Given the description of an element on the screen output the (x, y) to click on. 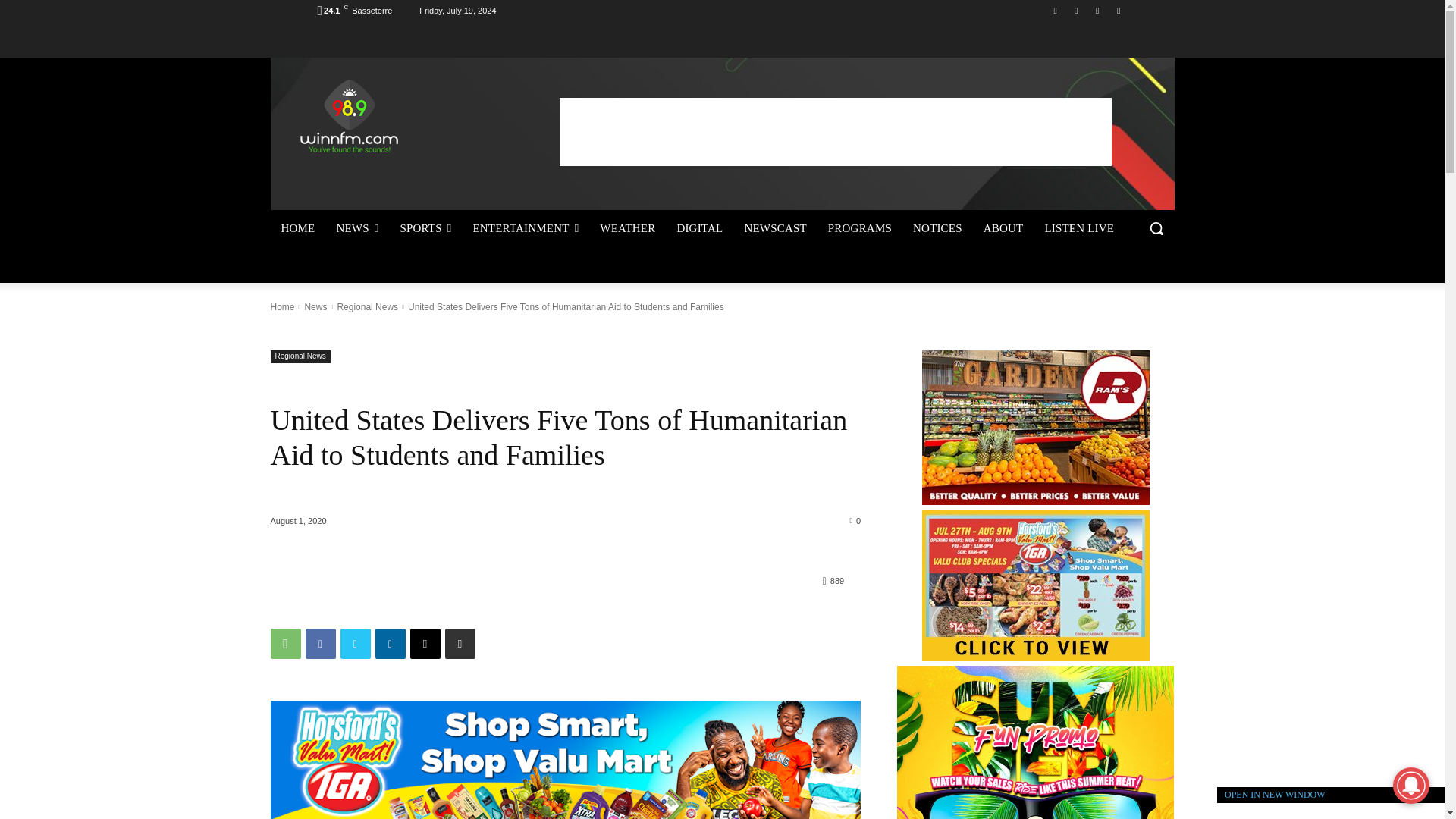
HOME (296, 227)
Instagram (1075, 9)
Advertisement (835, 131)
Twitter (1097, 9)
Youtube (1117, 9)
Facebook (1055, 9)
NEWS (356, 227)
